Given the description of an element on the screen output the (x, y) to click on. 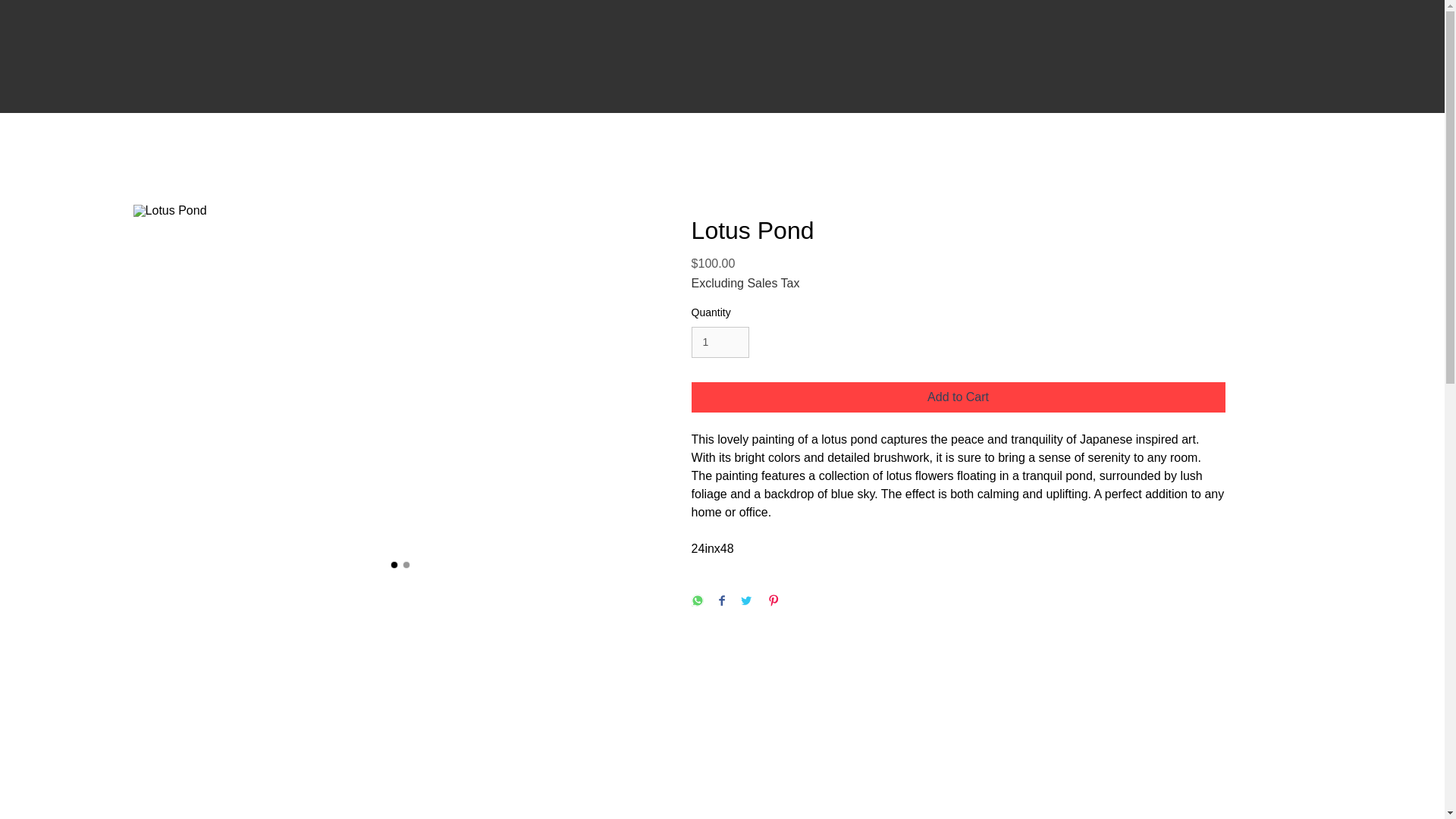
1 (720, 341)
Add to Cart (958, 397)
